Given the description of an element on the screen output the (x, y) to click on. 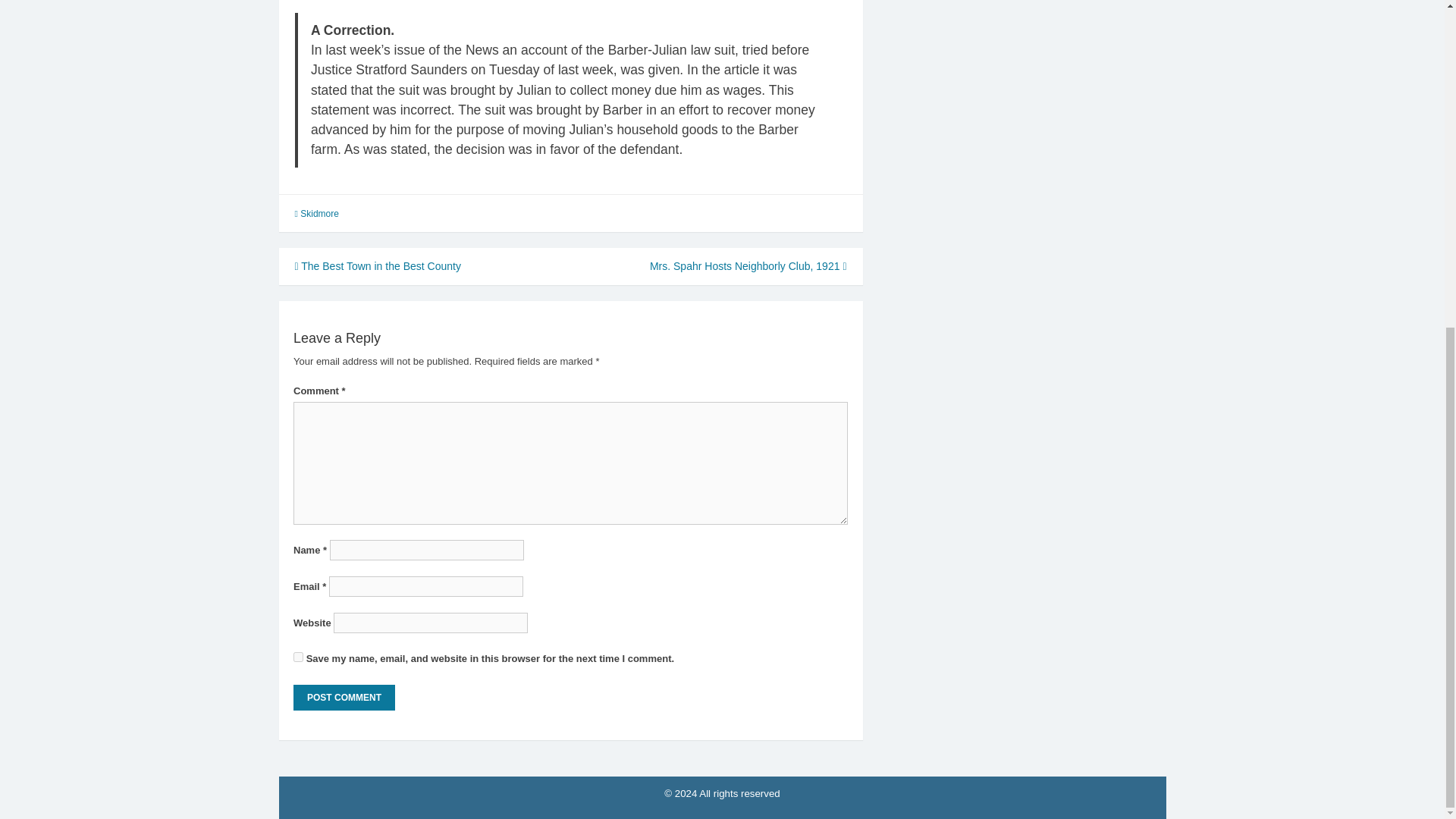
yes (298, 656)
The Best Town in the Best County (377, 265)
Post Comment (344, 697)
Mrs. Spahr Hosts Neighborly Club, 1921 (748, 265)
Skidmore (319, 213)
Post Comment (344, 697)
